Given the description of an element on the screen output the (x, y) to click on. 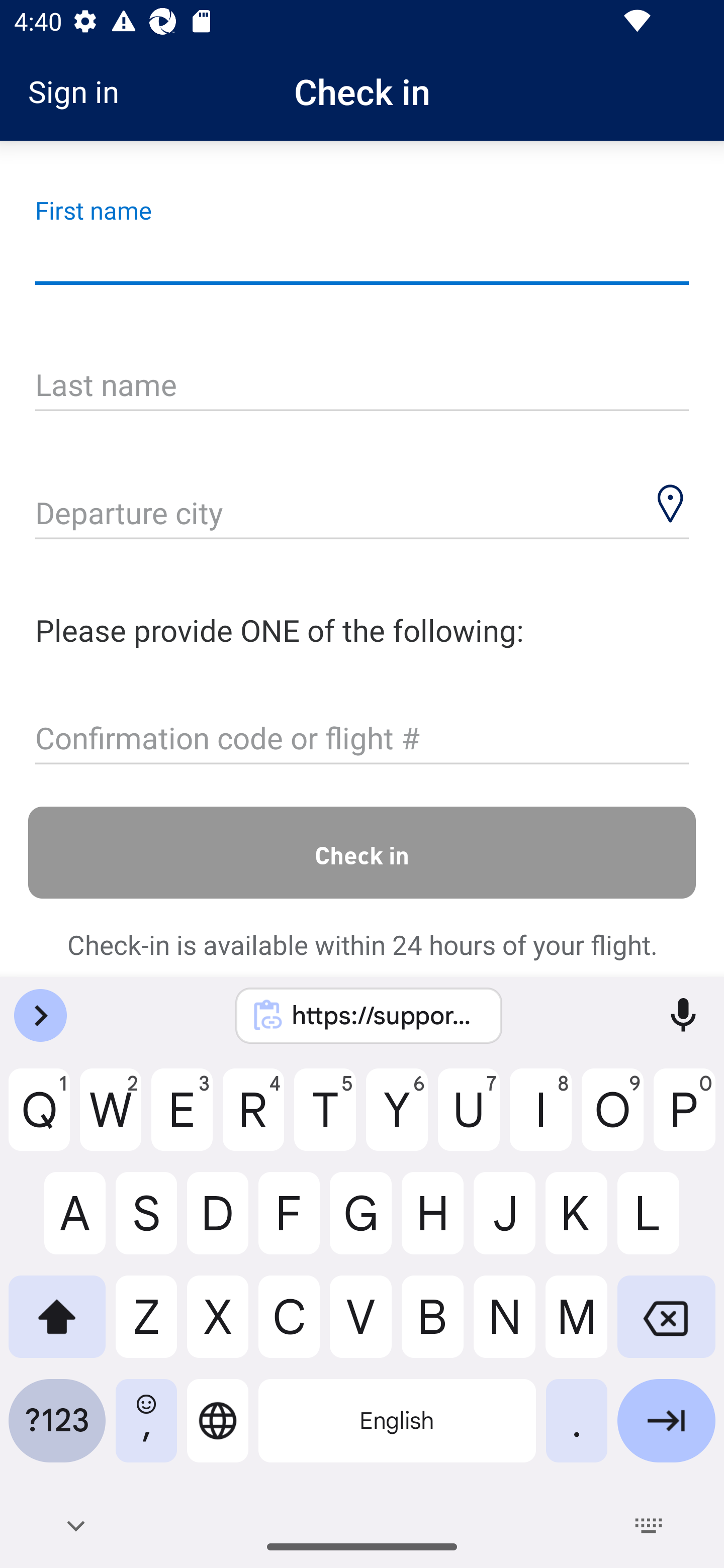
Sign in (80, 91)
First name (361, 257)
Last name (361, 386)
Departure city (361, 514)
Check in (361, 851)
